Given the description of an element on the screen output the (x, y) to click on. 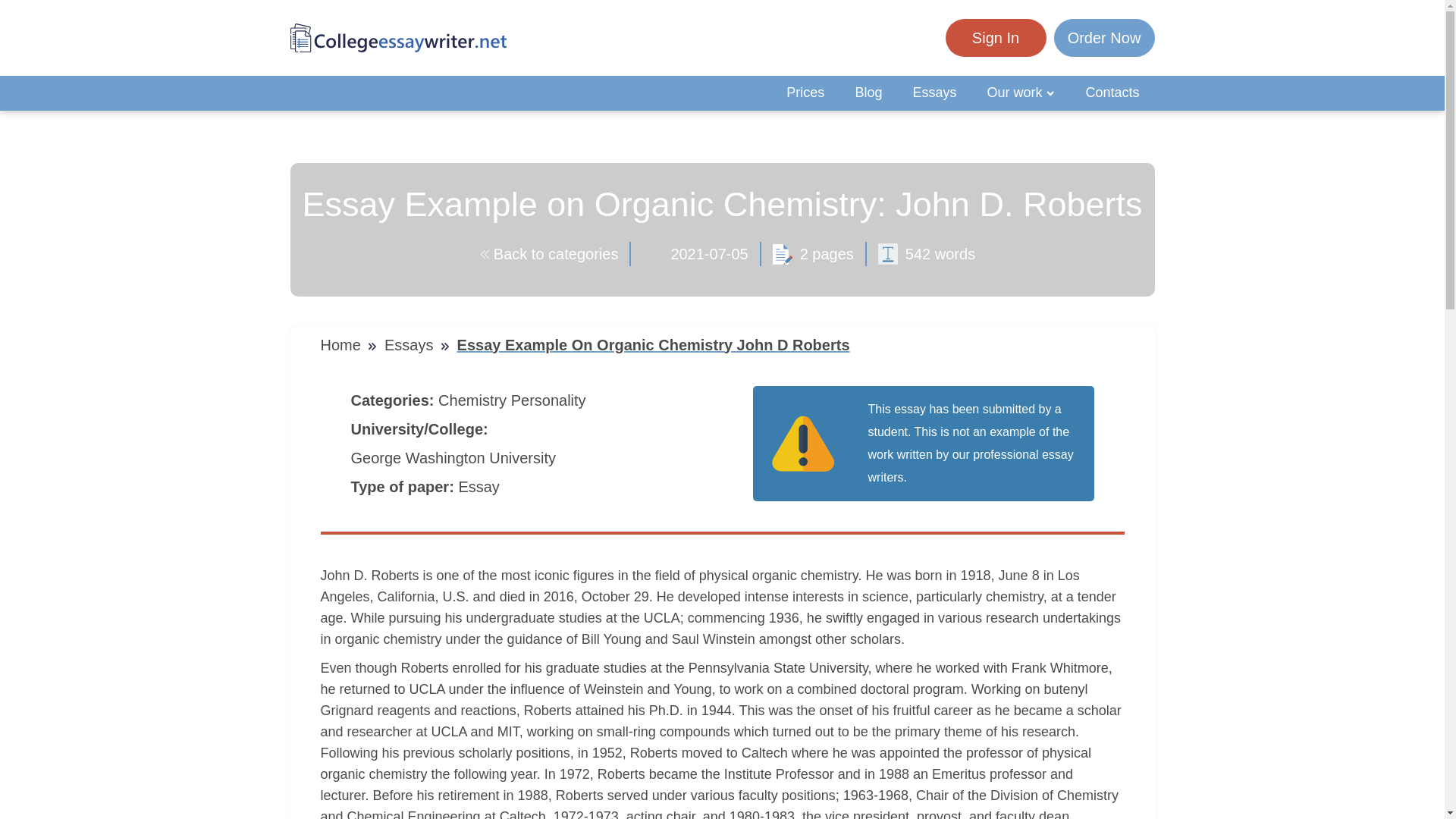
Contacts (1112, 93)
Back to categories (549, 254)
Essays (933, 93)
Chemistry  (474, 400)
Personality  (551, 400)
Essays (411, 344)
Prices (805, 93)
Blog (868, 93)
Home (342, 344)
Order Now (1104, 37)
